Given the description of an element on the screen output the (x, y) to click on. 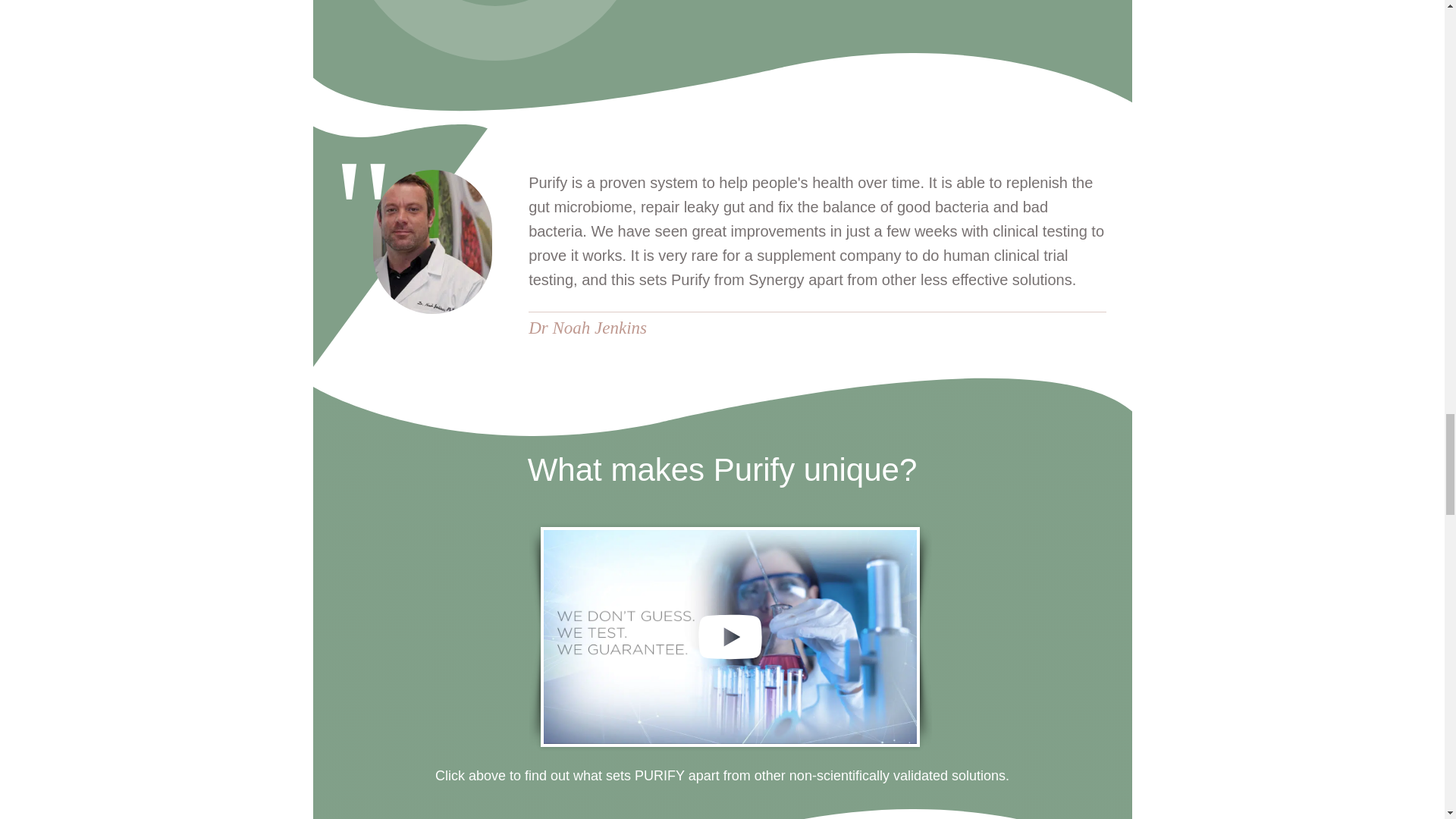
Responsive Video (729, 635)
